Given the description of an element on the screen output the (x, y) to click on. 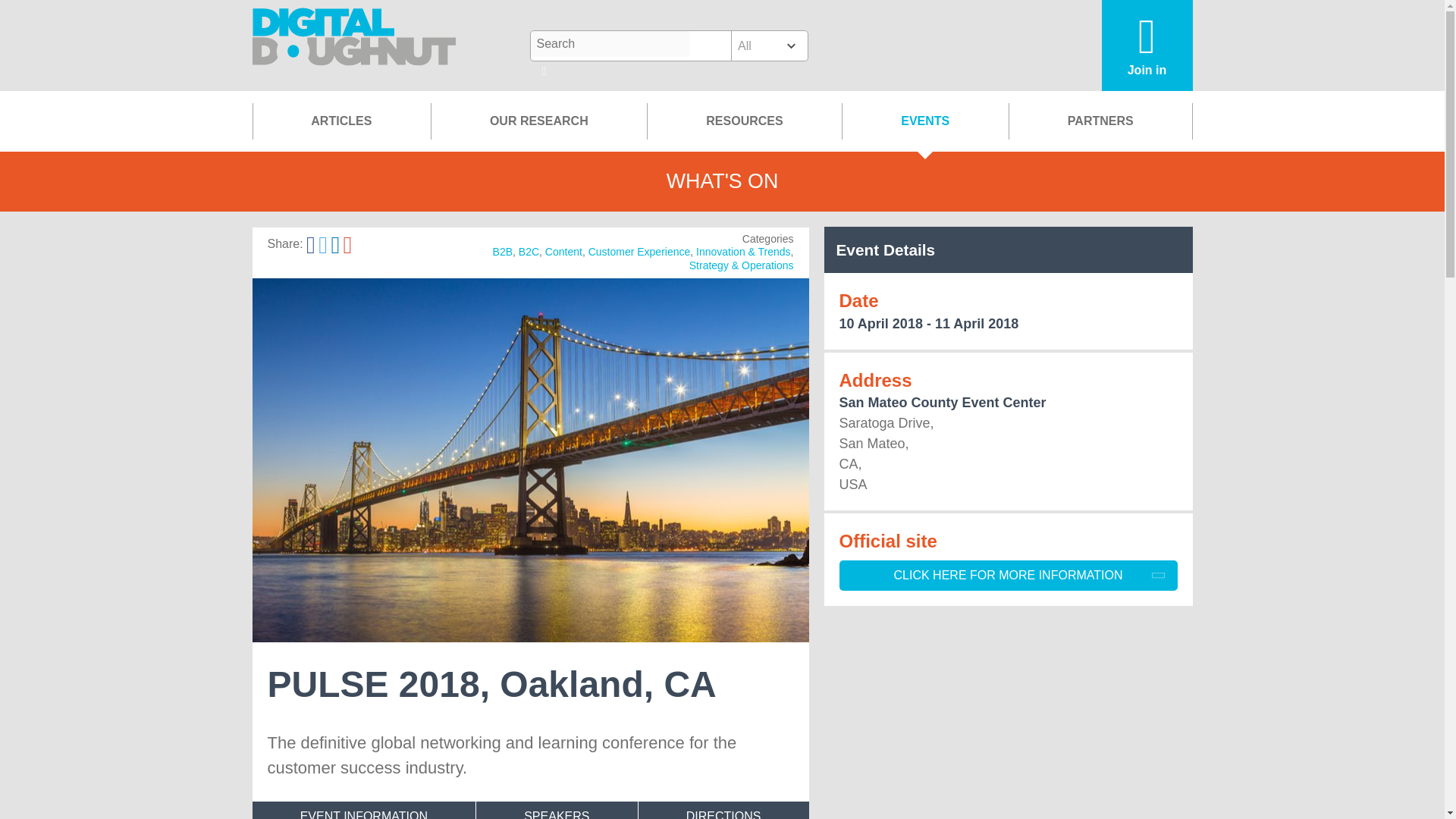
CLICK HERE FOR MORE INFORMATION (1007, 575)
Click to view related articles (742, 251)
DIRECTIONS (724, 810)
PARTNERS (1100, 120)
RESOURCES (743, 120)
Click to view related articles (563, 251)
OUR RESEARCH (538, 120)
ARTICLES (340, 120)
Go (544, 71)
Go (544, 71)
